Given the description of an element on the screen output the (x, y) to click on. 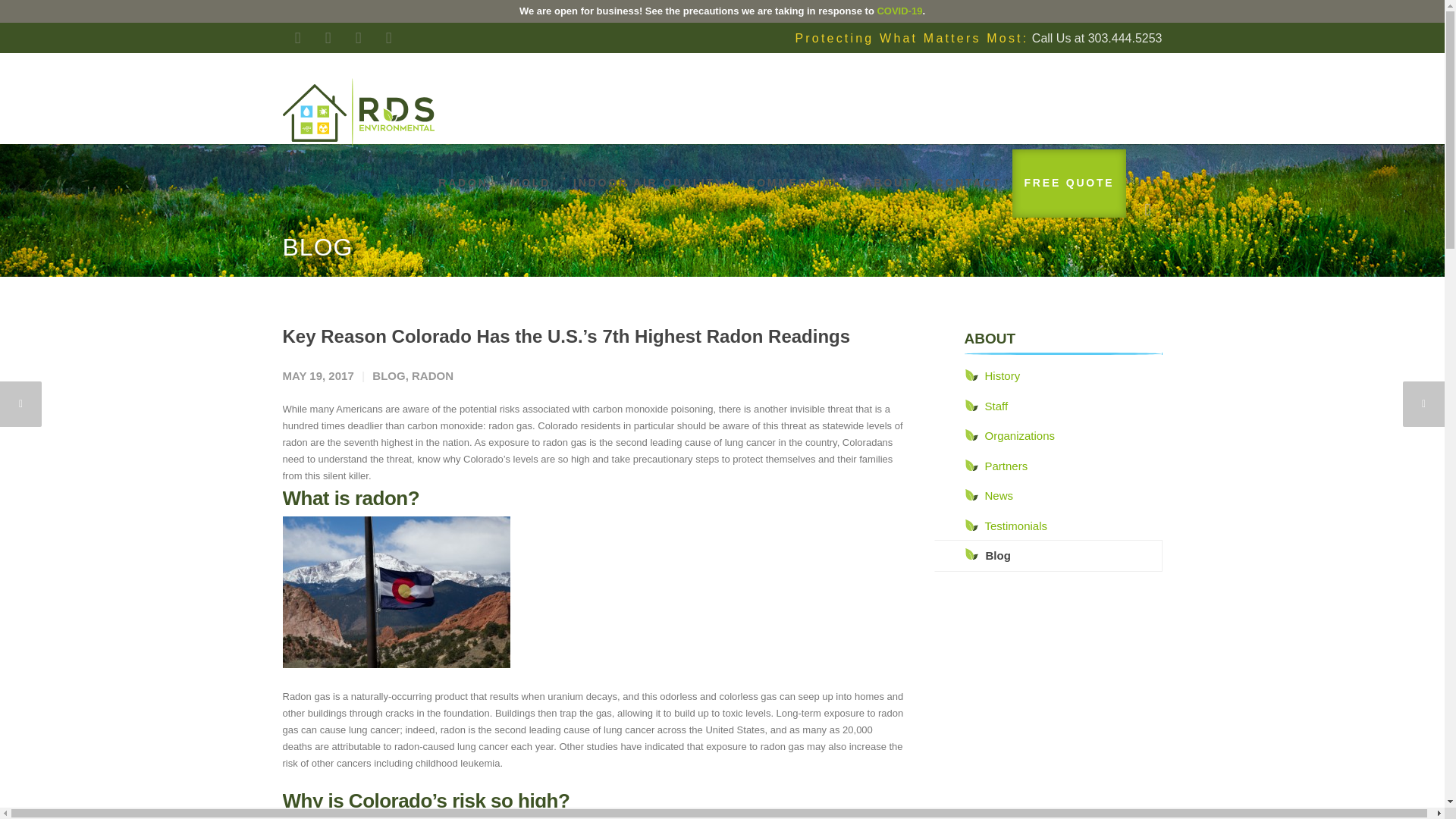
ABOUT (888, 182)
COVID-19 (898, 10)
YouTube (387, 37)
CONTACT (967, 182)
Facebook (297, 37)
INDOOR AIR QUALITY (648, 182)
RADON (462, 182)
303.444.5253 (1124, 38)
FREE QUOTE (1068, 182)
MOLD (530, 182)
COMMERCIAL (793, 182)
LinkedIn (327, 37)
Twitter (357, 37)
